Given the description of an element on the screen output the (x, y) to click on. 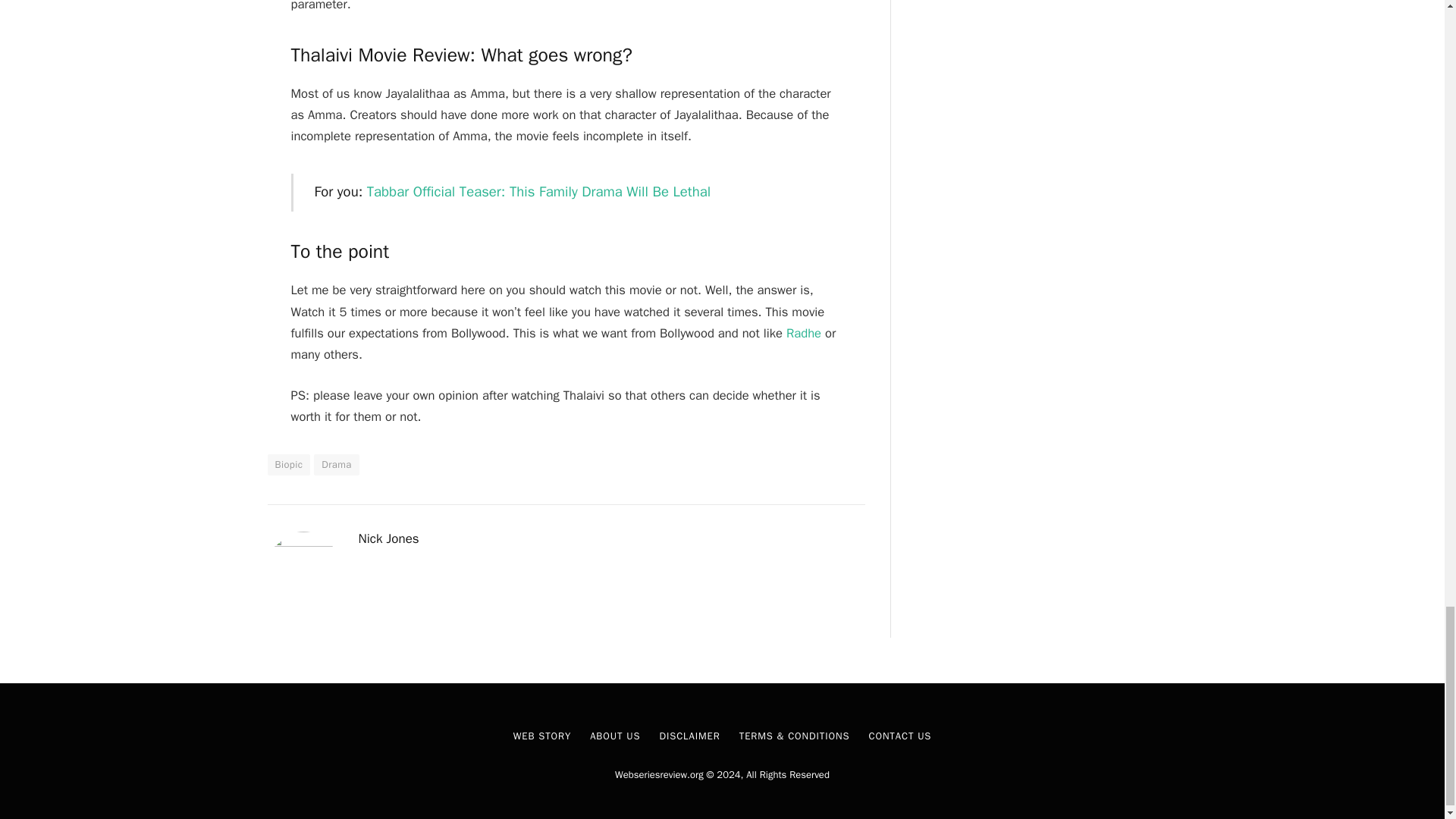
Posts by Nick Jones (388, 539)
Drama (336, 464)
Nick Jones (388, 539)
Biopic (288, 464)
Radhe (803, 333)
Tabbar Official Teaser: This Family Drama Will Be Lethal (538, 191)
